Given the description of an element on the screen output the (x, y) to click on. 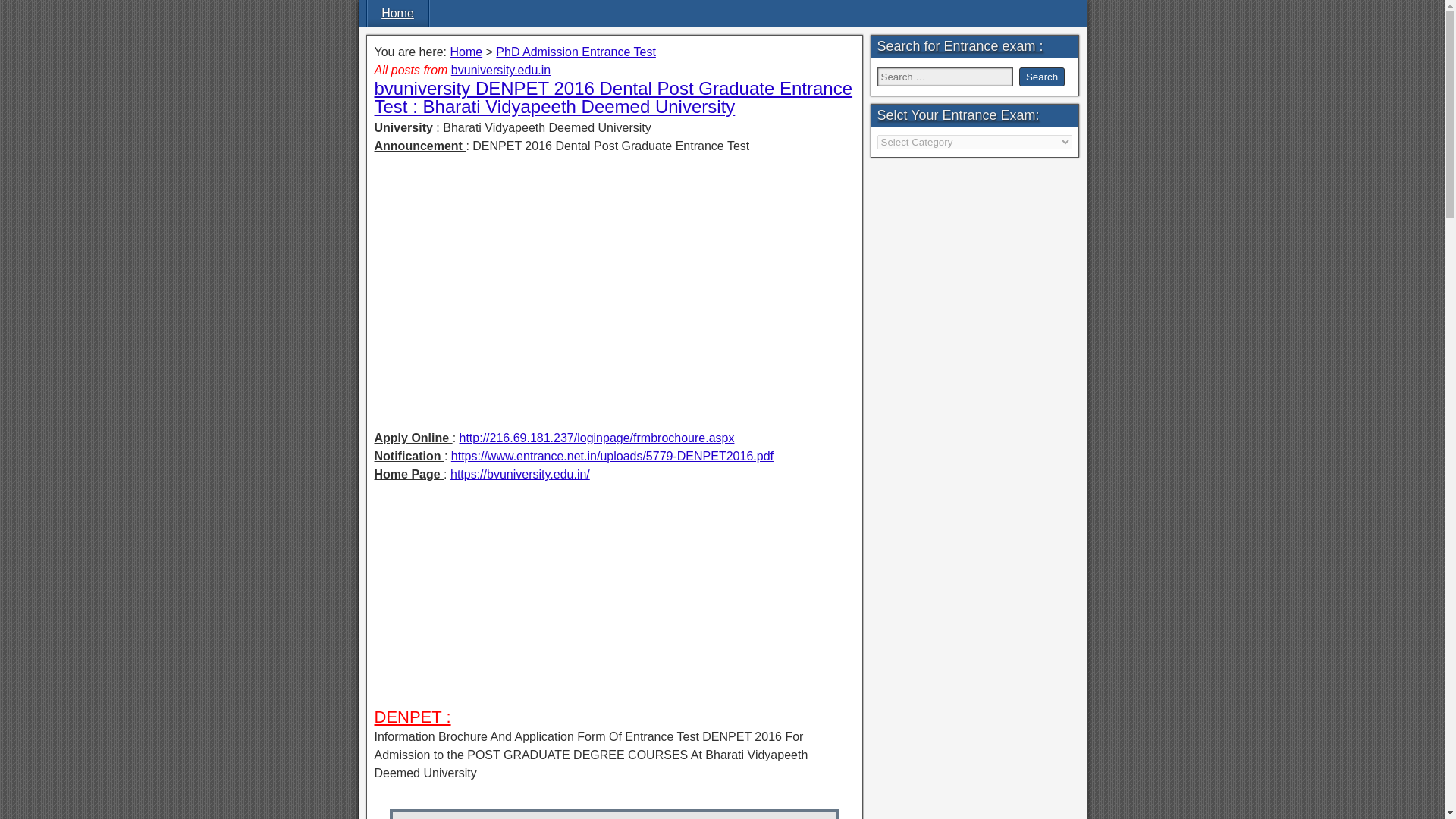
PhD Admission Entrance Test (575, 51)
Search (1041, 76)
Advertisement (614, 601)
Home (397, 13)
Search (1041, 76)
bvuniversity.edu.in (500, 69)
Home (465, 51)
PhD Admission Entrance Test (575, 51)
Advertisement (614, 273)
Search (1041, 76)
